Given the description of an element on the screen output the (x, y) to click on. 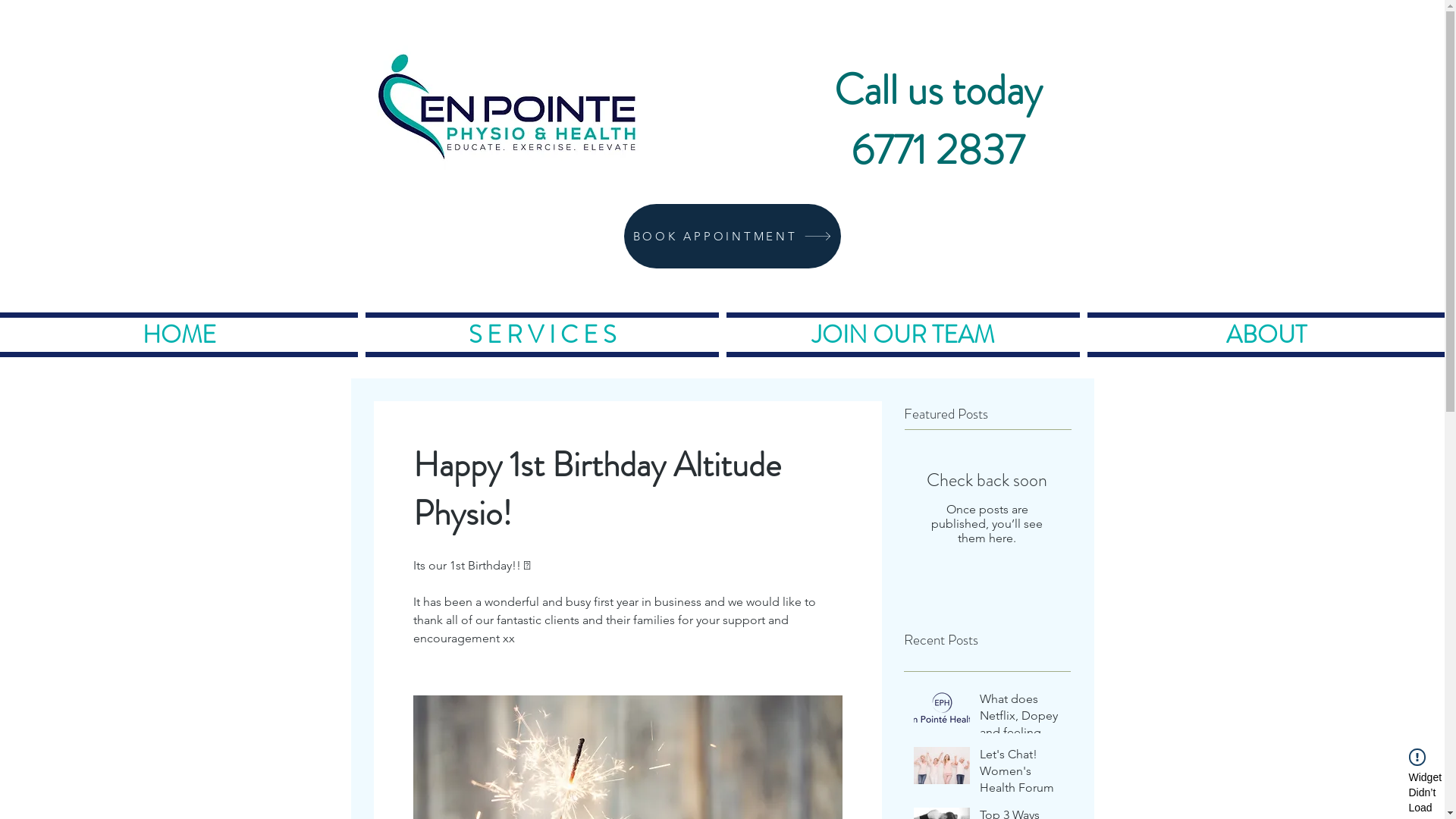
JOIN OUR TEAM Element type: text (902, 325)
ABOUT Element type: text (1263, 325)
HOME Element type: text (180, 325)
S E R V I C E S Element type: text (541, 325)
Let's Chat! Women's Health Forum Element type: text (1020, 774)
BOOK APPOINTMENT Element type: text (731, 235)
